Given the description of an element on the screen output the (x, y) to click on. 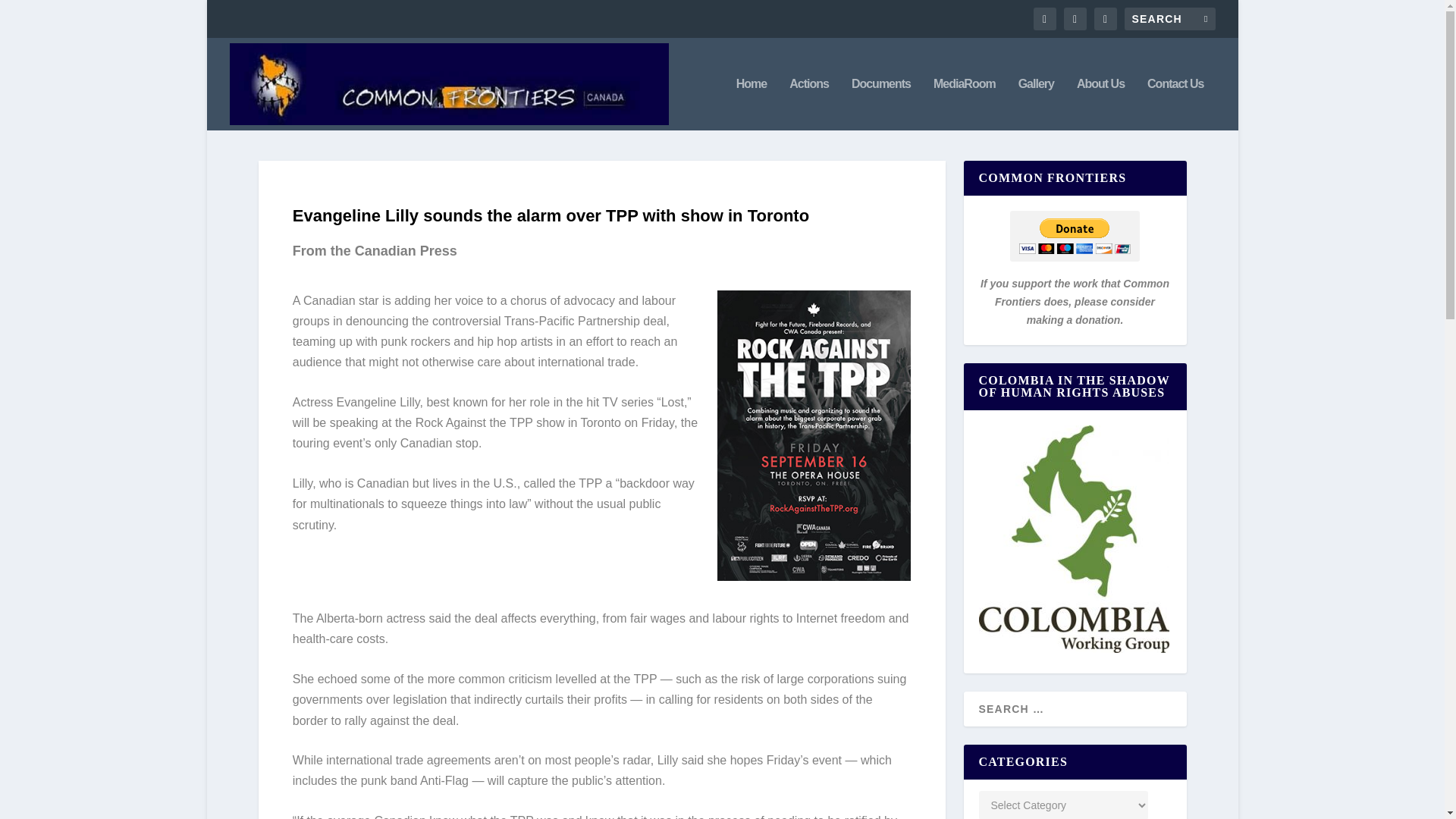
MediaRoom (964, 103)
Documents (881, 103)
